Given the description of an element on the screen output the (x, y) to click on. 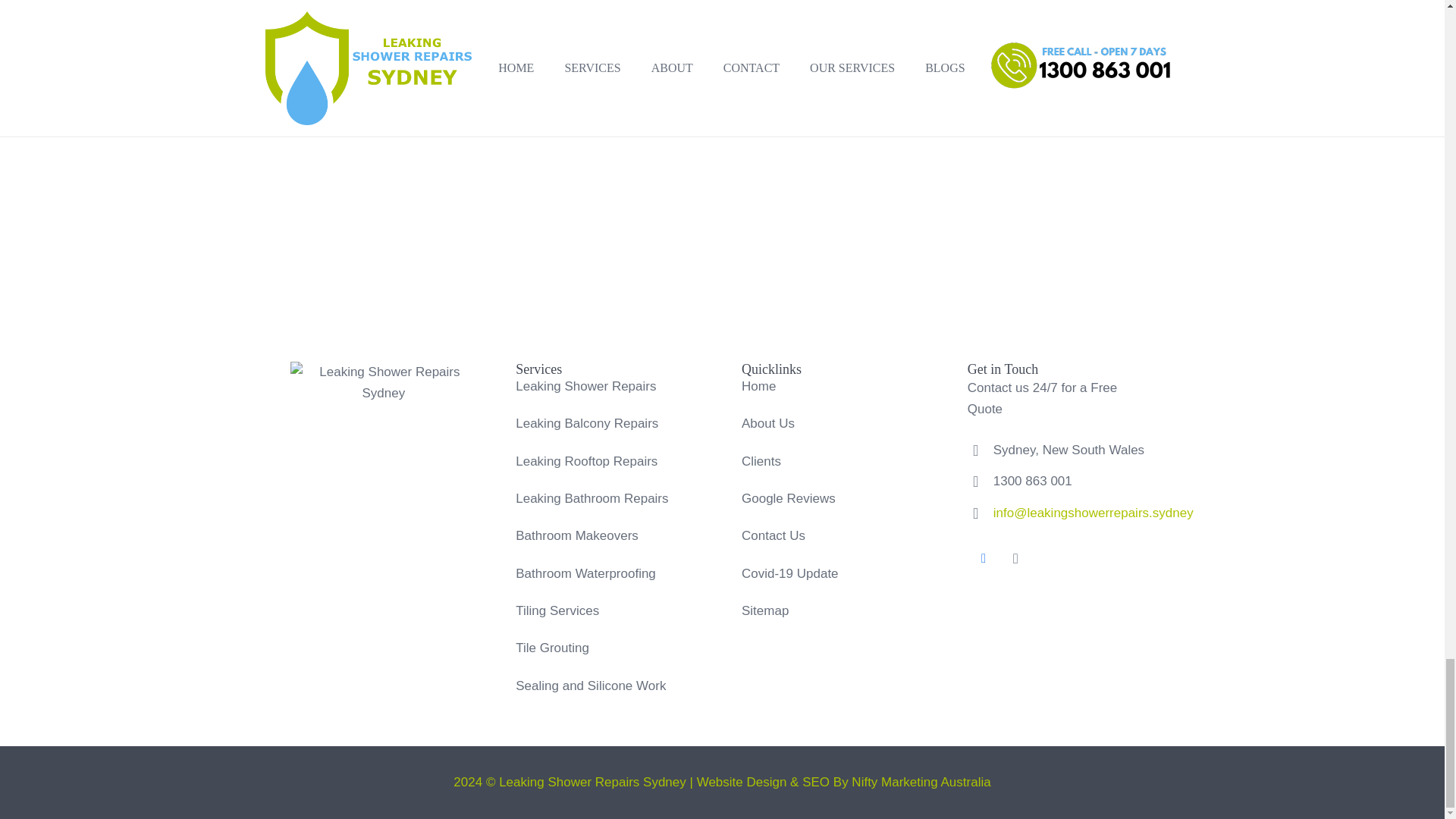
Facebook (984, 558)
Instagram (1015, 558)
